Given the description of an element on the screen output the (x, y) to click on. 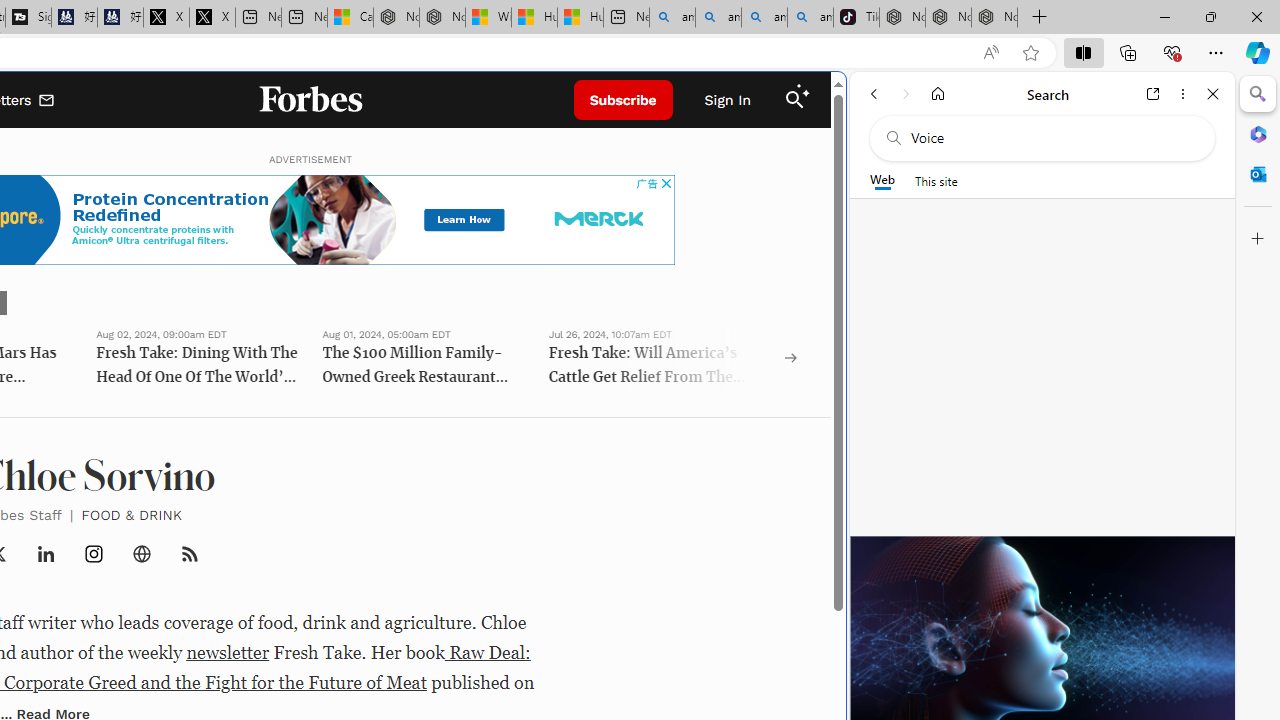
Microsoft 365 (1258, 133)
Forward (906, 93)
Web scope (882, 180)
Class: sparkles_svg__fs-icon sparkles_svg__fs-icon--sparkles (803, 91)
Home (938, 93)
FOOD & DRINK (130, 514)
Nordace - Siena Pro 15 Essential Set (994, 17)
Forbes Logo (310, 99)
TikTok (856, 17)
Open link in new tab (1153, 93)
